Given the description of an element on the screen output the (x, y) to click on. 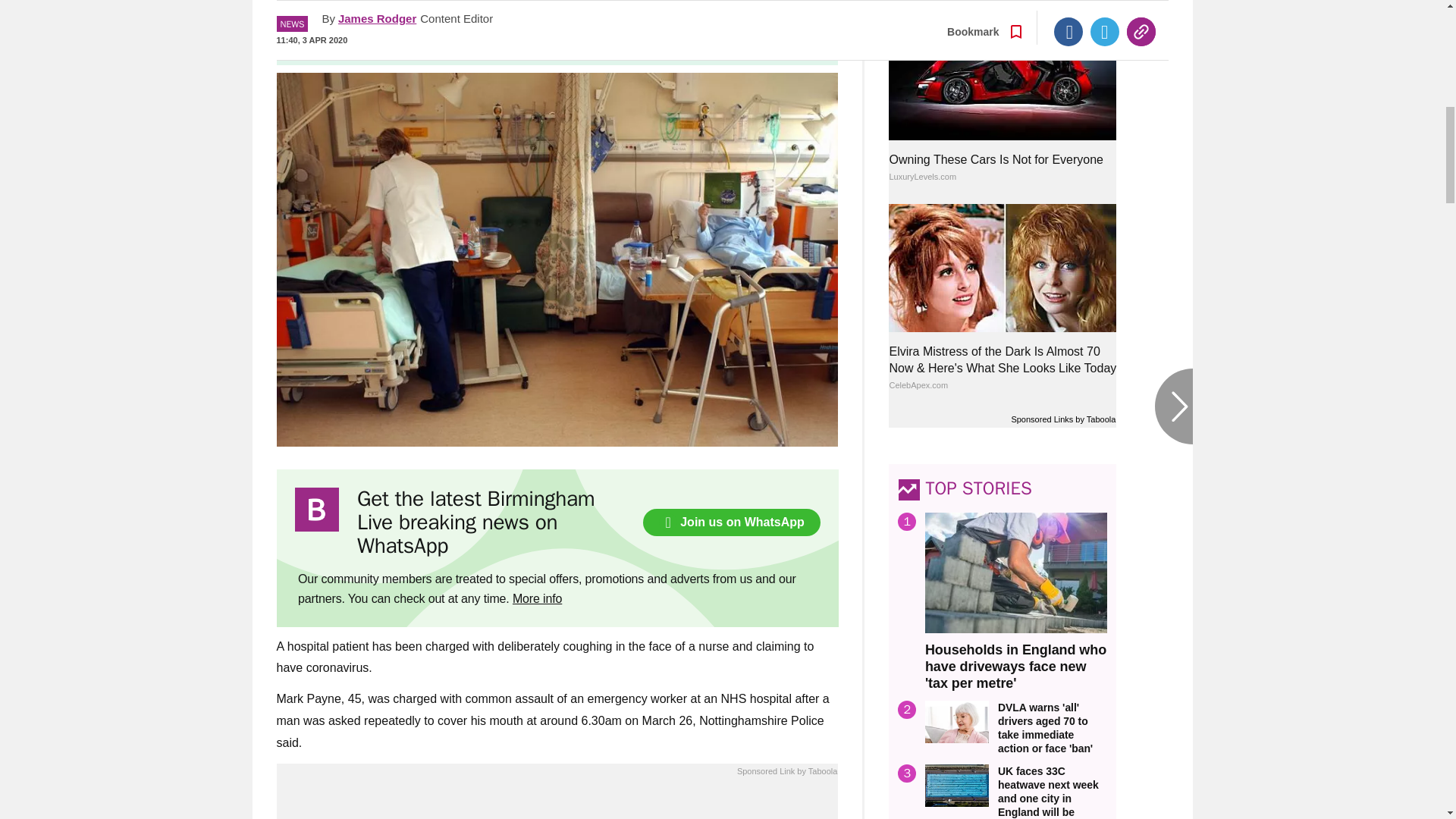
Go (730, 38)
